Given the description of an element on the screen output the (x, y) to click on. 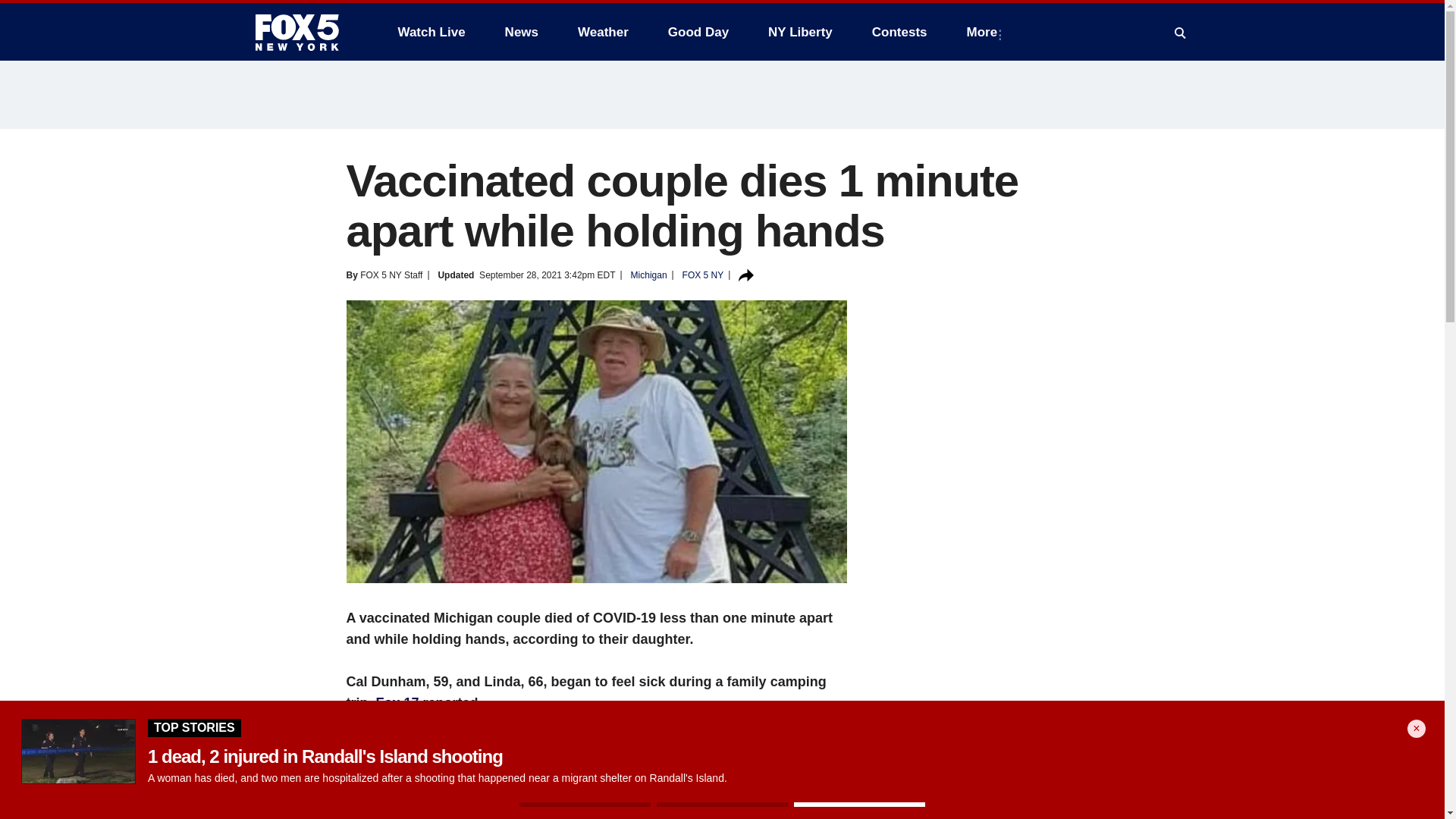
News (521, 32)
NY Liberty (799, 32)
More (985, 32)
Contests (899, 32)
Weather (603, 32)
Watch Live (431, 32)
Good Day (698, 32)
